Given the description of an element on the screen output the (x, y) to click on. 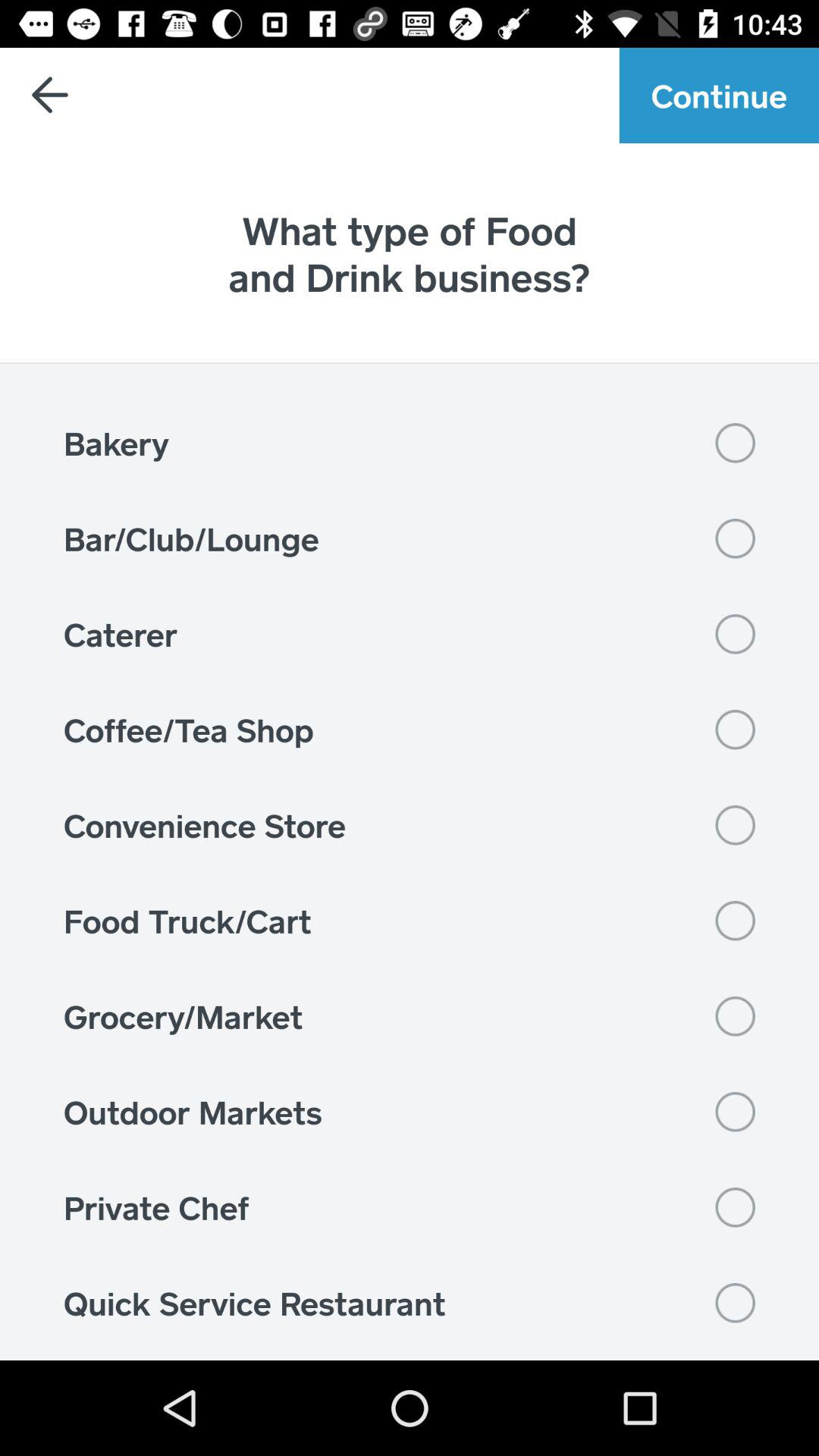
turn off icon above sit-down restaurant (409, 1302)
